Given the description of an element on the screen output the (x, y) to click on. 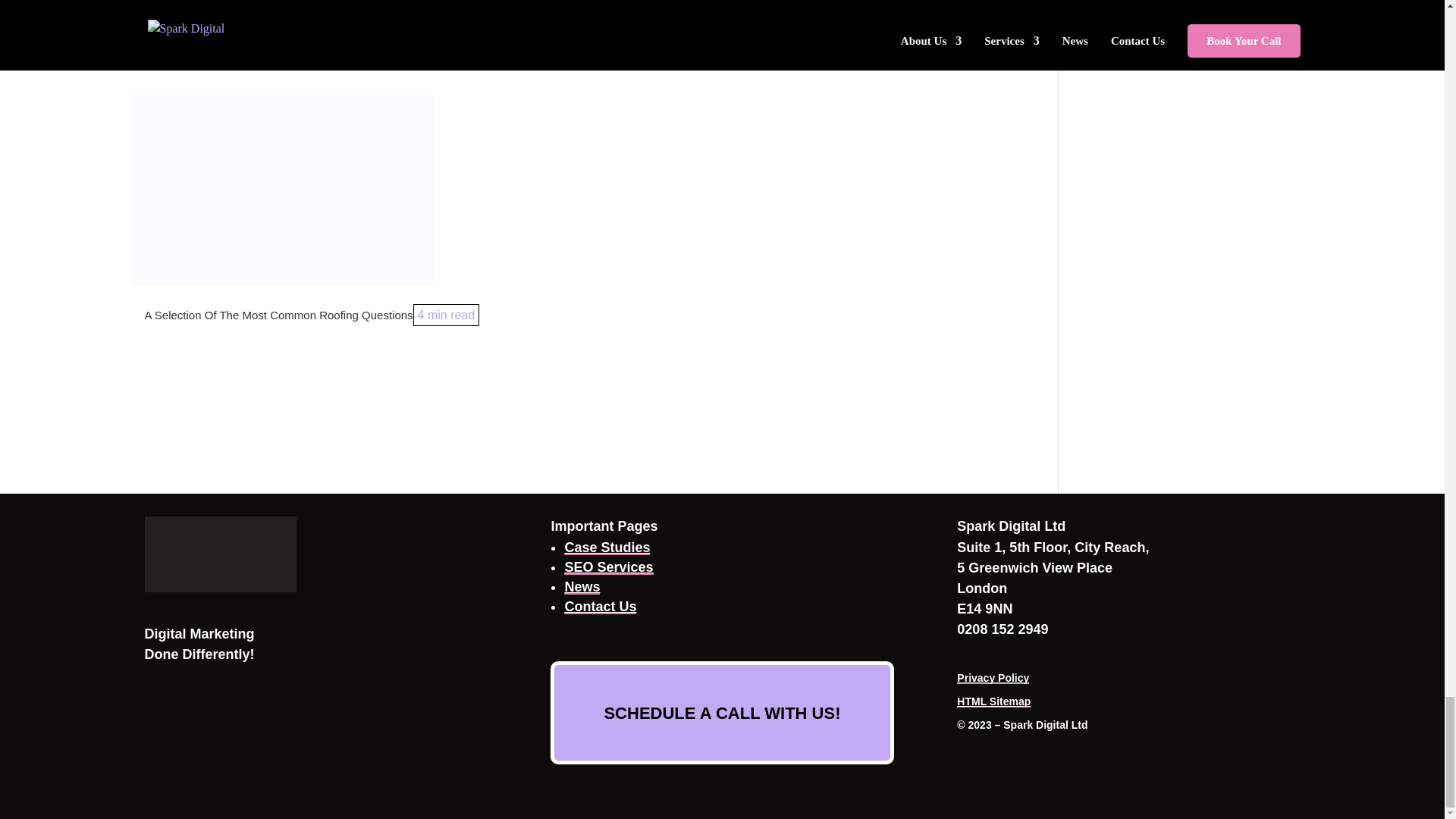
Local SEO From Spark Digital (608, 566)
Spark Digital Logo (219, 554)
Contact Spark Digital (600, 606)
Spark Digital Case Studies (606, 547)
Spark Digital HTML Sitemap For Users (993, 701)
